Given the description of an element on the screen output the (x, y) to click on. 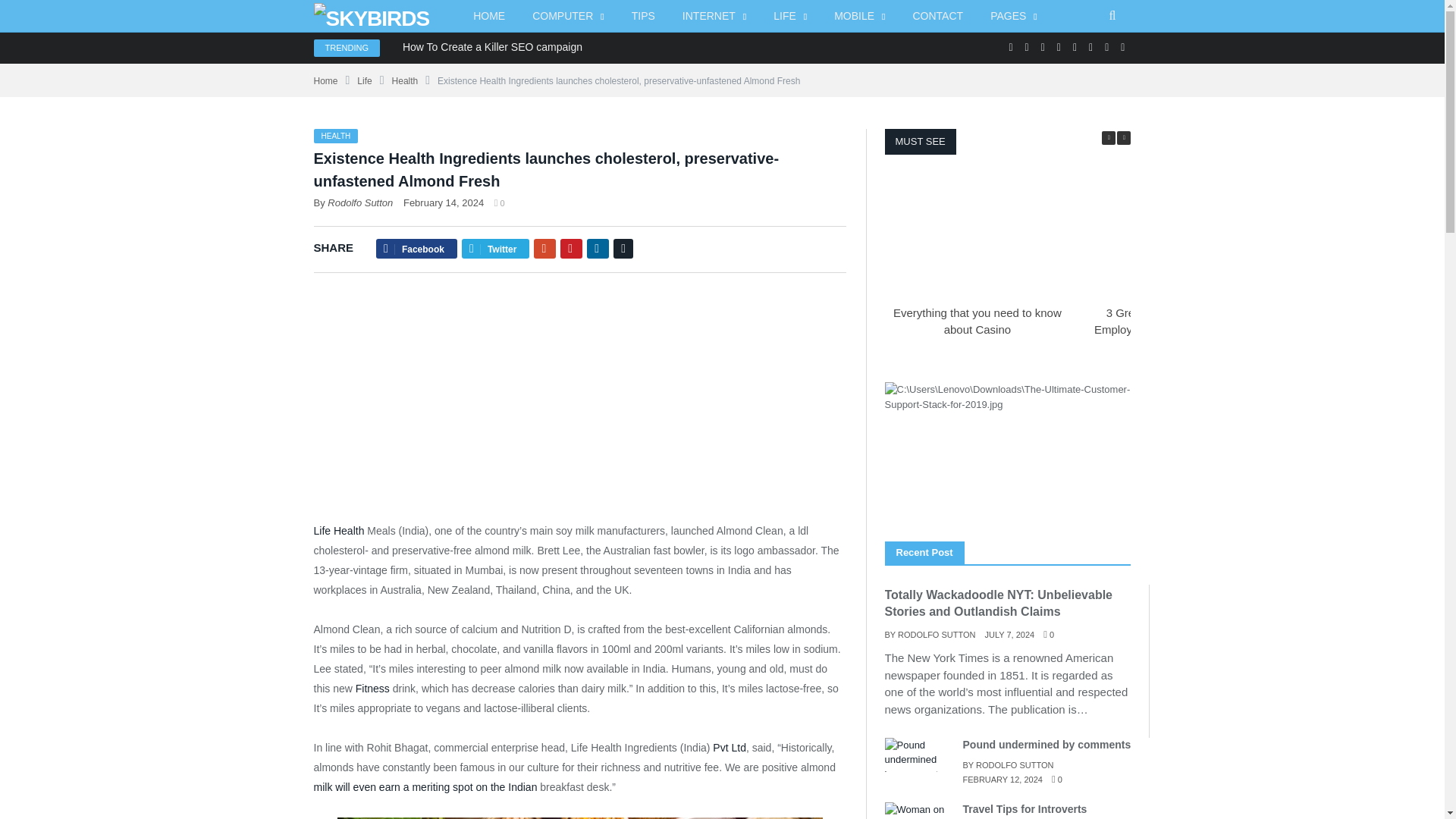
CONTACT (937, 16)
MOBILE (859, 16)
HOME (489, 16)
PAGES (1013, 16)
Google Plus (1027, 47)
Skybirds (371, 15)
How To Create a Killer SEO campaign (496, 47)
TIPS (642, 16)
Facebook (1010, 47)
Instagram (1043, 47)
Linkedin (1059, 47)
INTERNET (714, 16)
How To Create a Killer SEO campaign (496, 47)
LIFE (790, 16)
COMPUTER (567, 16)
